Given the description of an element on the screen output the (x, y) to click on. 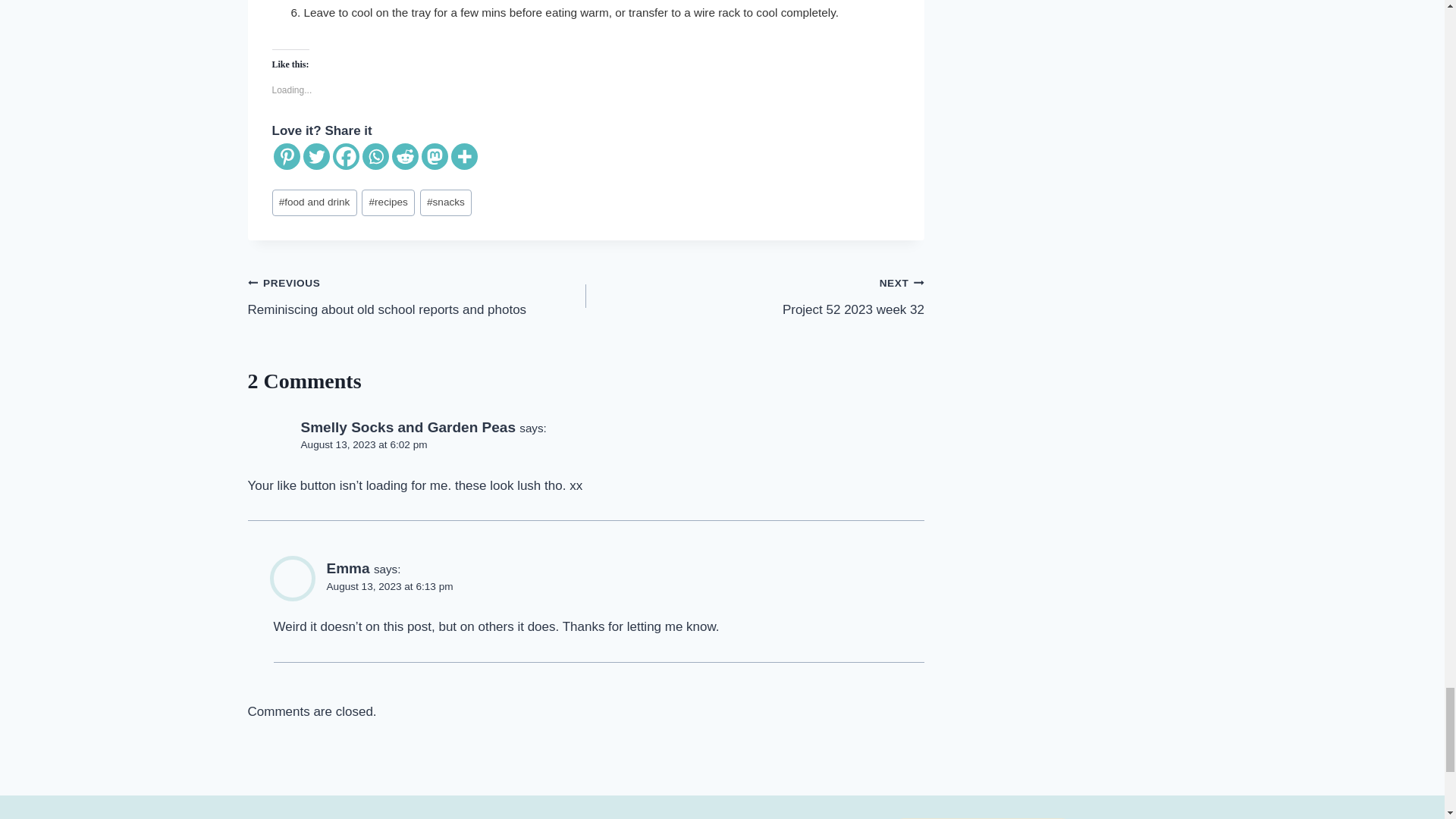
recipes (387, 202)
Mastodon (435, 156)
snacks (445, 202)
Twitter (316, 156)
More (463, 156)
Facebook (344, 156)
Reddit (404, 156)
Pinterest (286, 156)
Whatsapp (375, 156)
food and drink (313, 202)
